Given the description of an element on the screen output the (x, y) to click on. 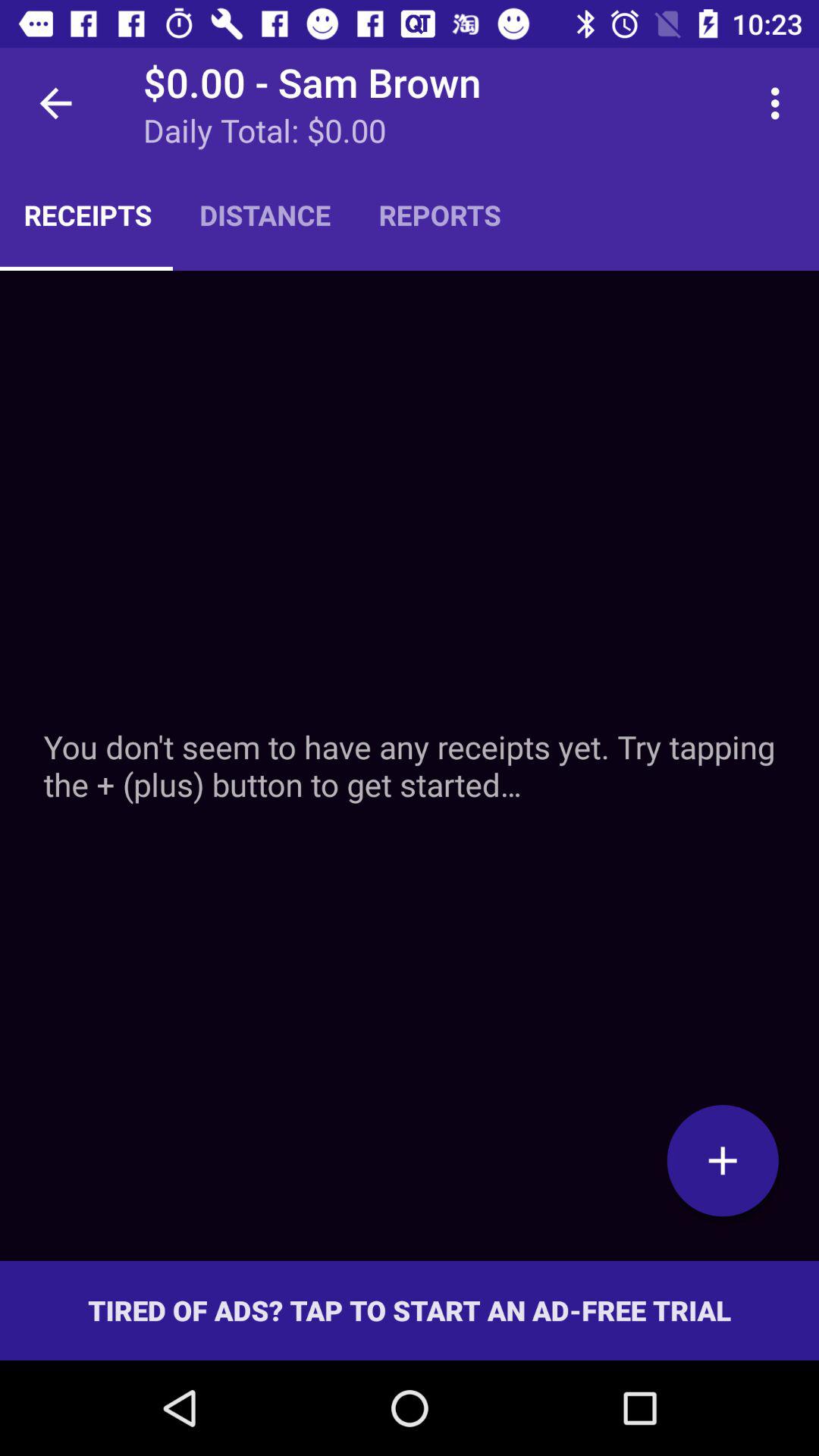
turn off icon at the top right corner (779, 103)
